Given the description of an element on the screen output the (x, y) to click on. 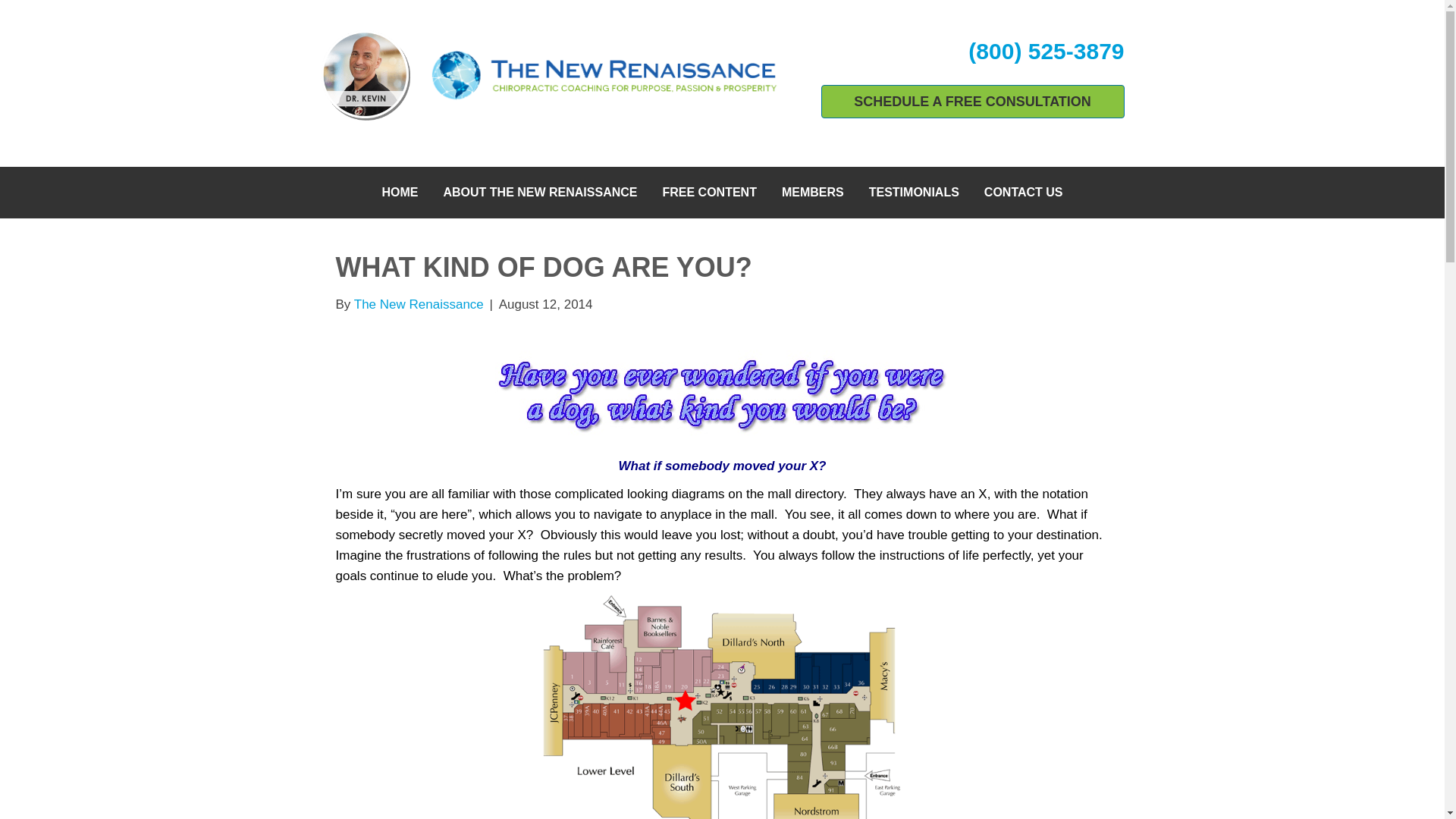
Untitled-1 (722, 395)
The New Renaissance logo transparent (603, 75)
Kevin-Spahr (365, 75)
youarehere (722, 706)
